Given the description of an element on the screen output the (x, y) to click on. 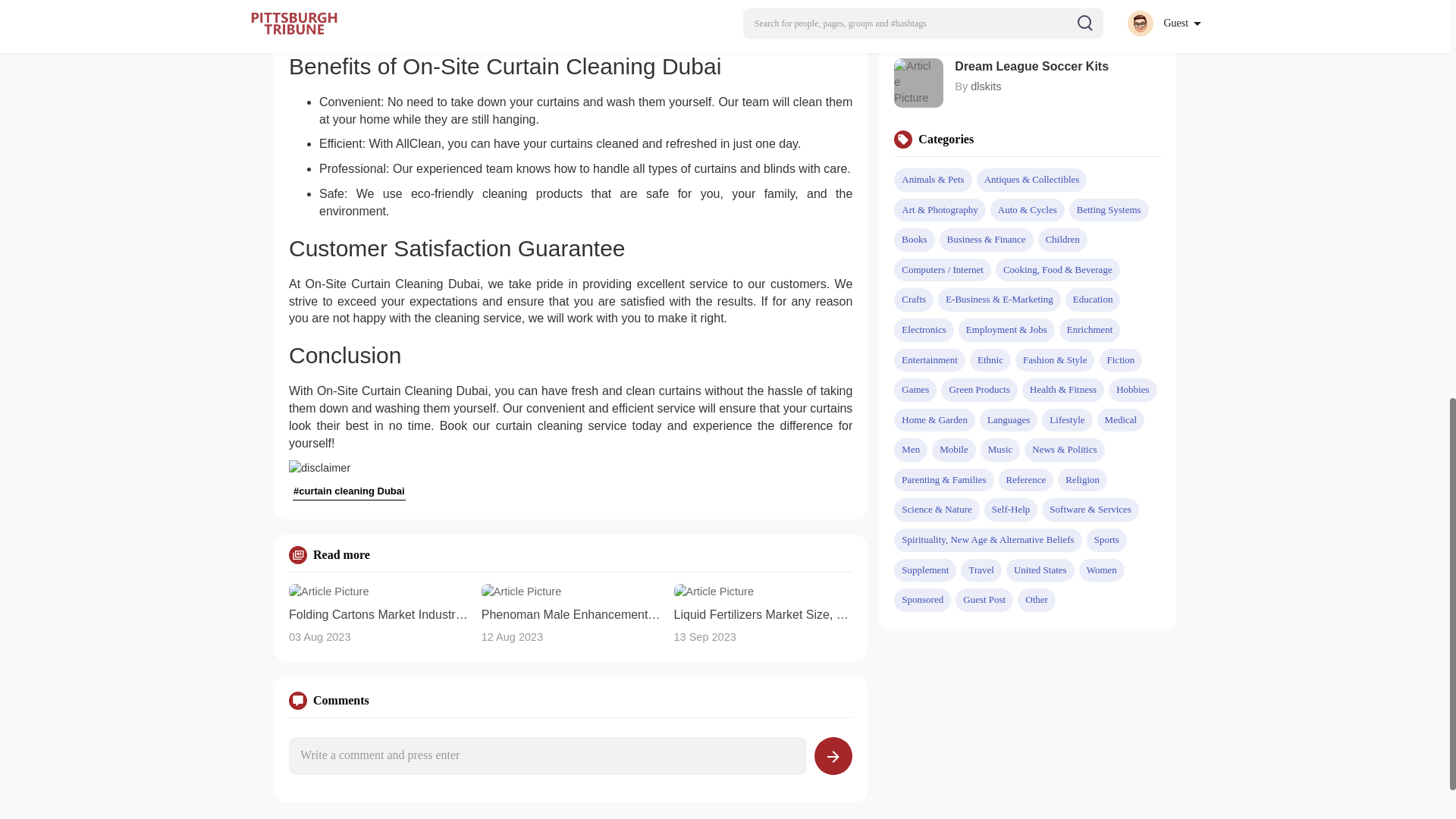
Dream League Soccer Kits (1057, 66)
justquikr (991, 28)
dlskits (986, 86)
Post (832, 755)
